Given the description of an element on the screen output the (x, y) to click on. 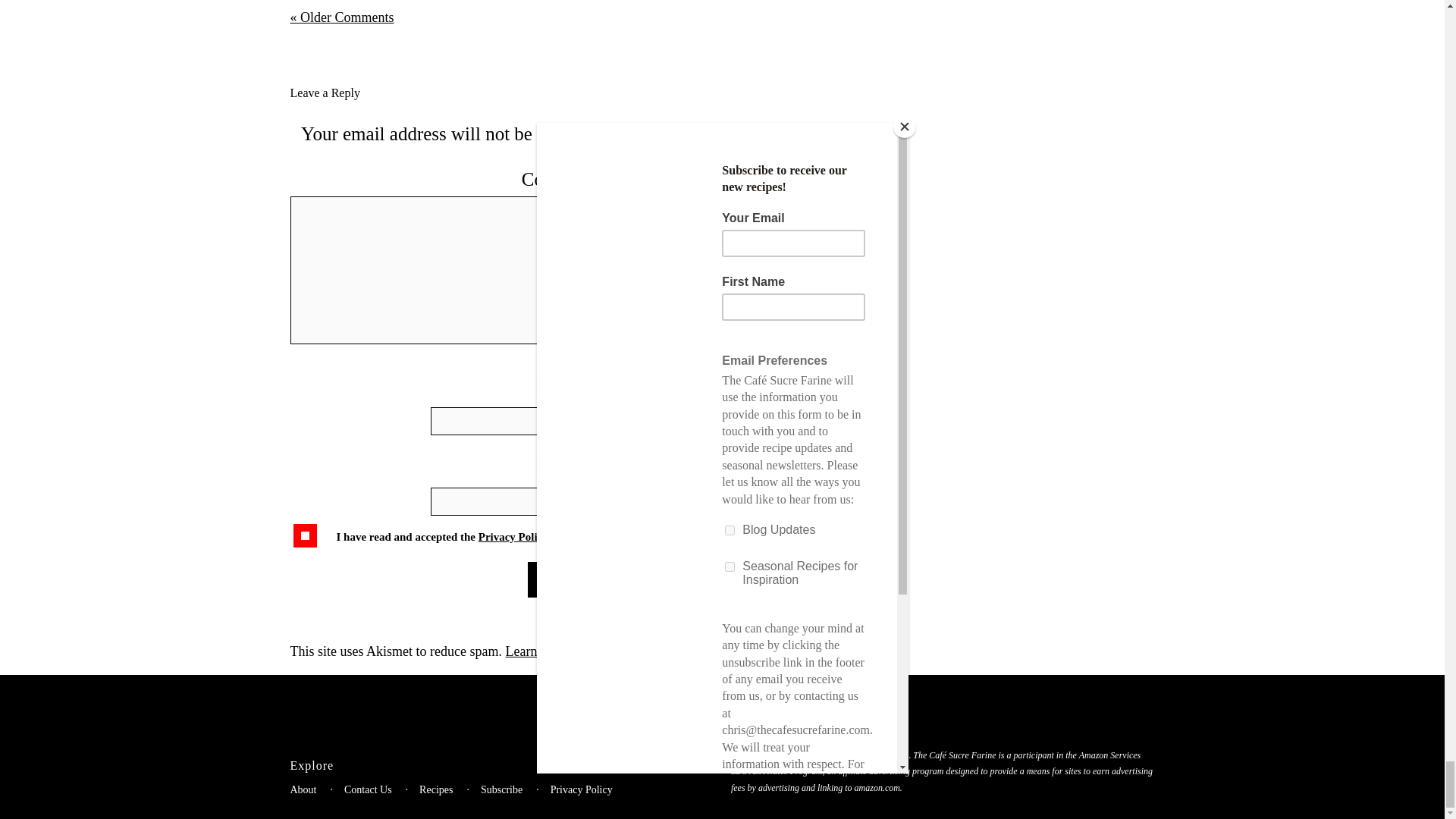
Post Comment (569, 579)
policy-key (304, 535)
